Given the description of an element on the screen output the (x, y) to click on. 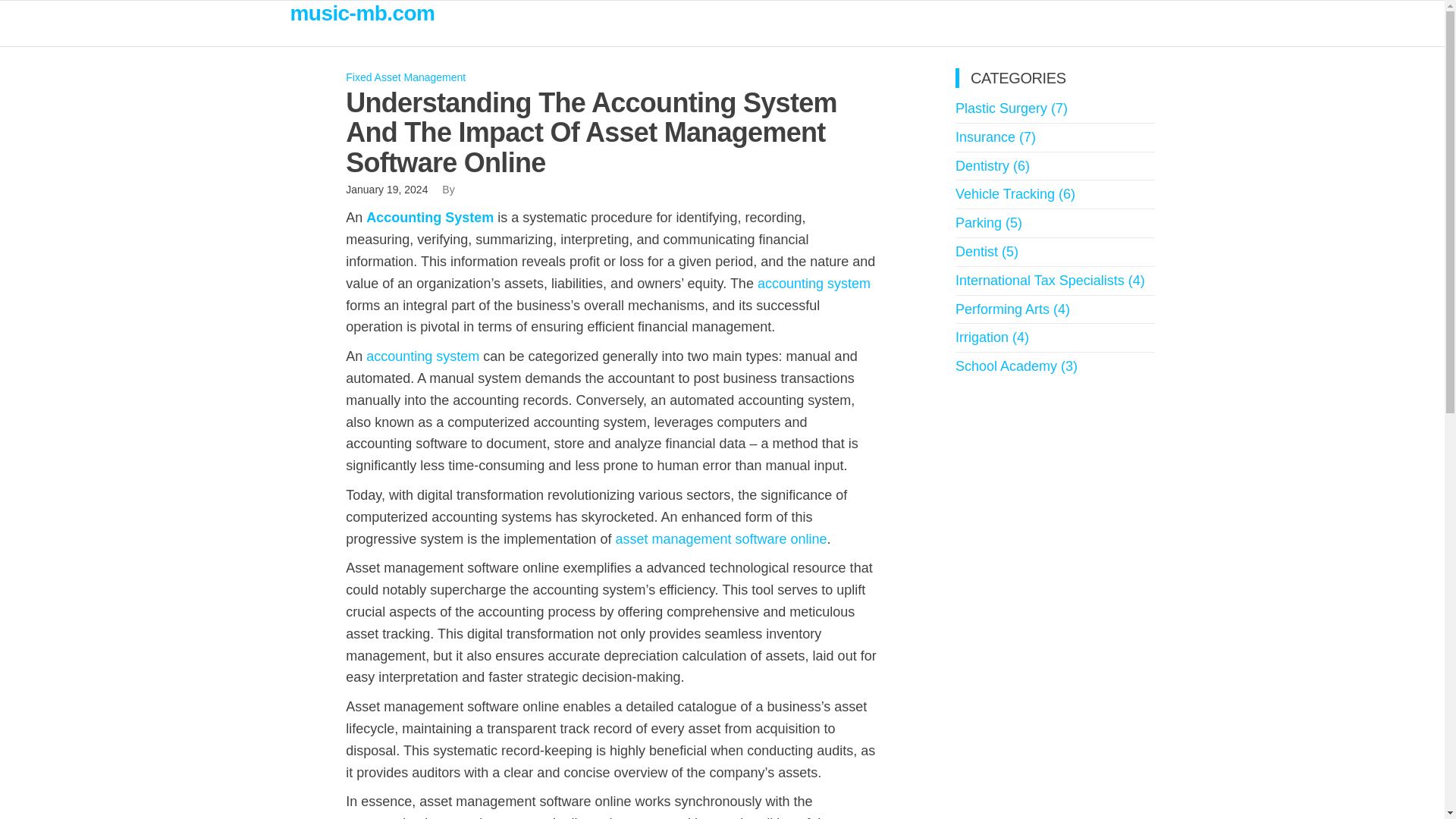
music-mb.com (361, 13)
accounting system (813, 283)
Accounting System (429, 217)
accounting system (422, 355)
Fixed Asset Management (405, 77)
asset management software online (720, 539)
